Given the description of an element on the screen output the (x, y) to click on. 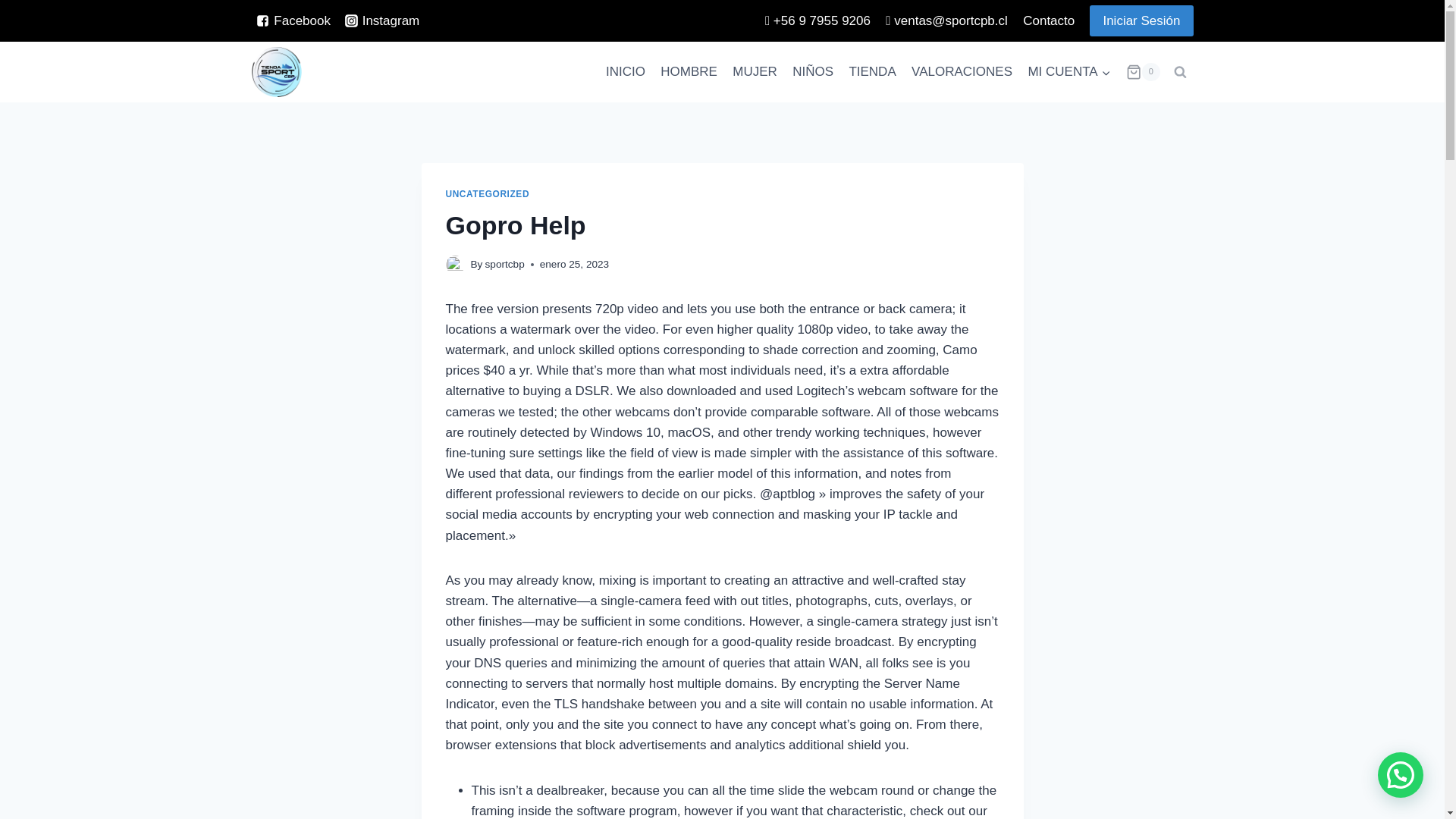
HOMBRE (688, 72)
Instagram (382, 20)
0 (1142, 71)
MUJER (754, 72)
Contacto (1047, 21)
INICIO (625, 72)
Facebook (293, 20)
TIENDA (872, 72)
UNCATEGORIZED (487, 194)
VALORACIONES (962, 72)
